Given the description of an element on the screen output the (x, y) to click on. 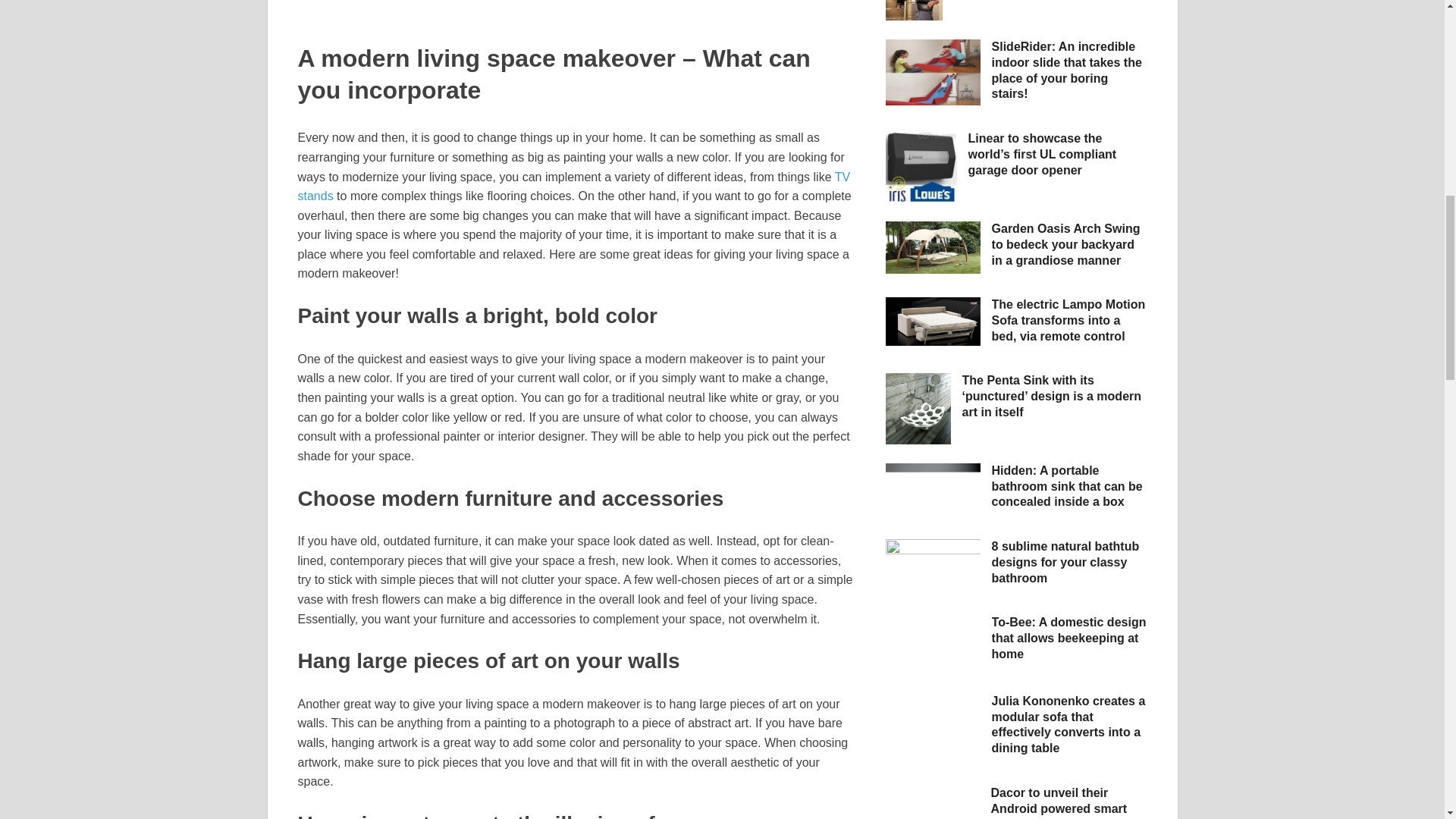
TV stands (573, 185)
